Given the description of an element on the screen output the (x, y) to click on. 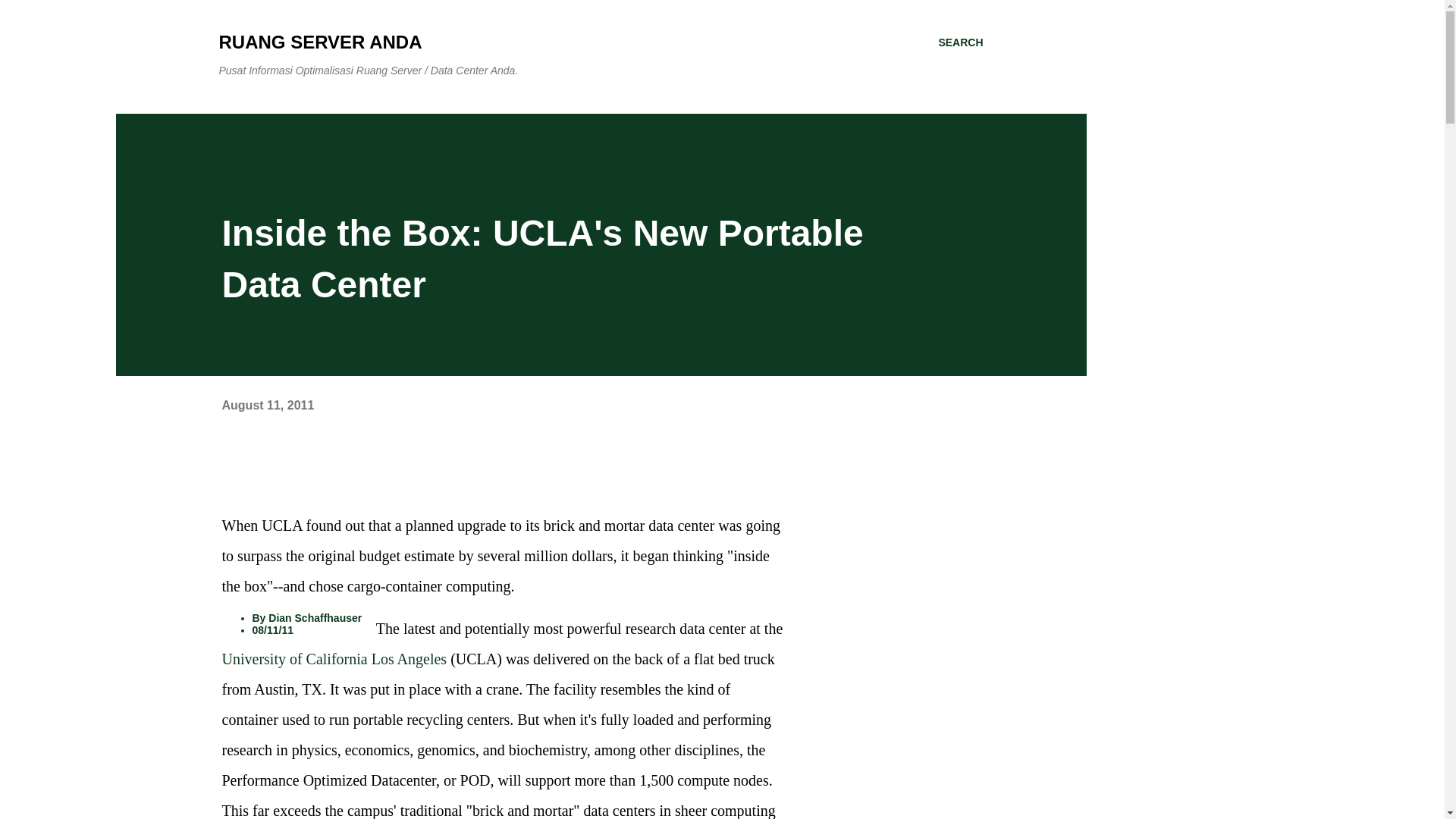
RUANG SERVER ANDA (320, 41)
SEARCH (959, 42)
University of California Los Angeles (333, 658)
permanent link (267, 404)
August 11, 2011 (267, 404)
